Given the description of an element on the screen output the (x, y) to click on. 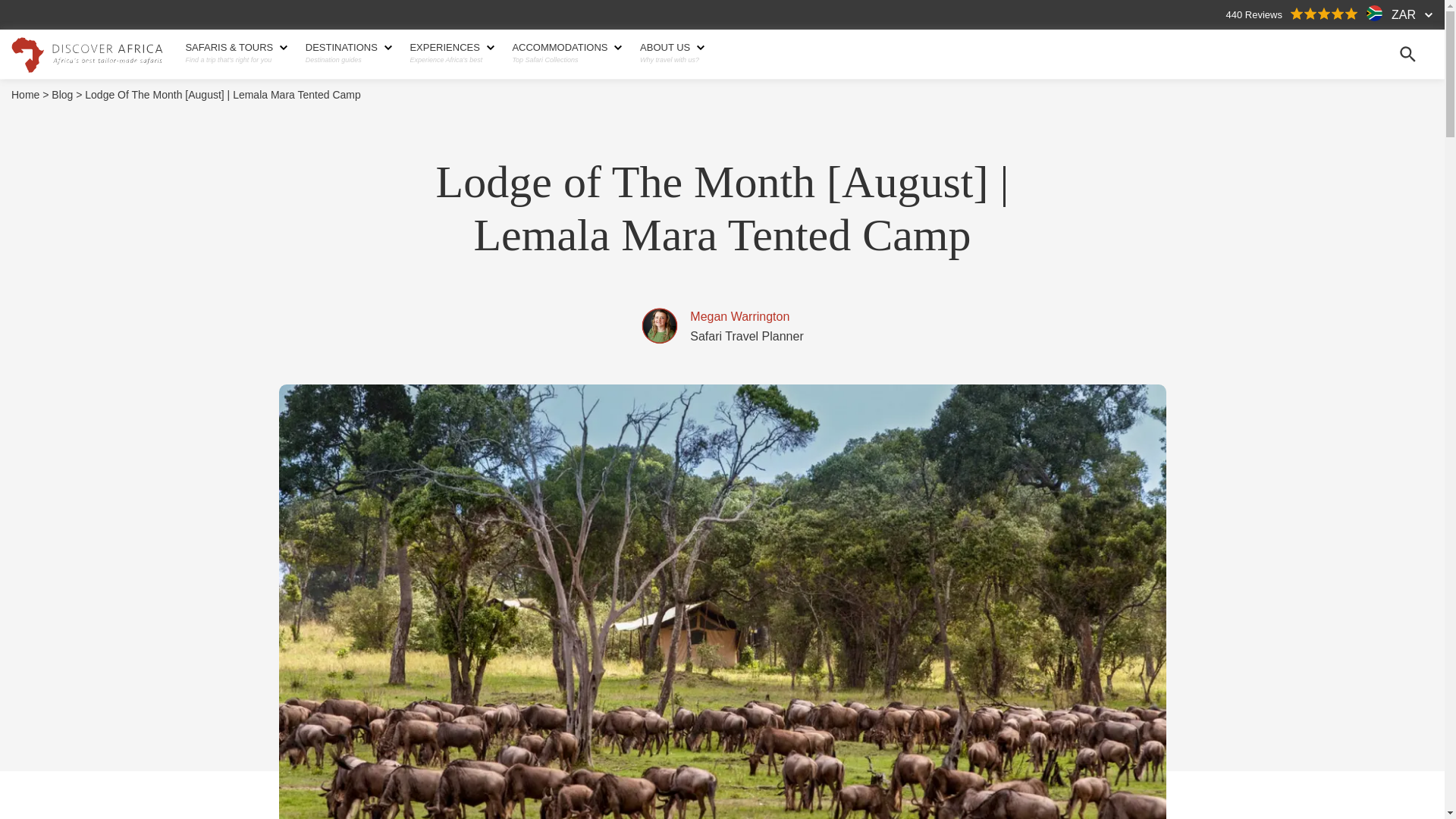
DESTINATIONS (346, 47)
Destination guides (346, 59)
Blog (65, 94)
440 Reviews (1291, 14)
Find a trip that's right for you (233, 59)
